Given the description of an element on the screen output the (x, y) to click on. 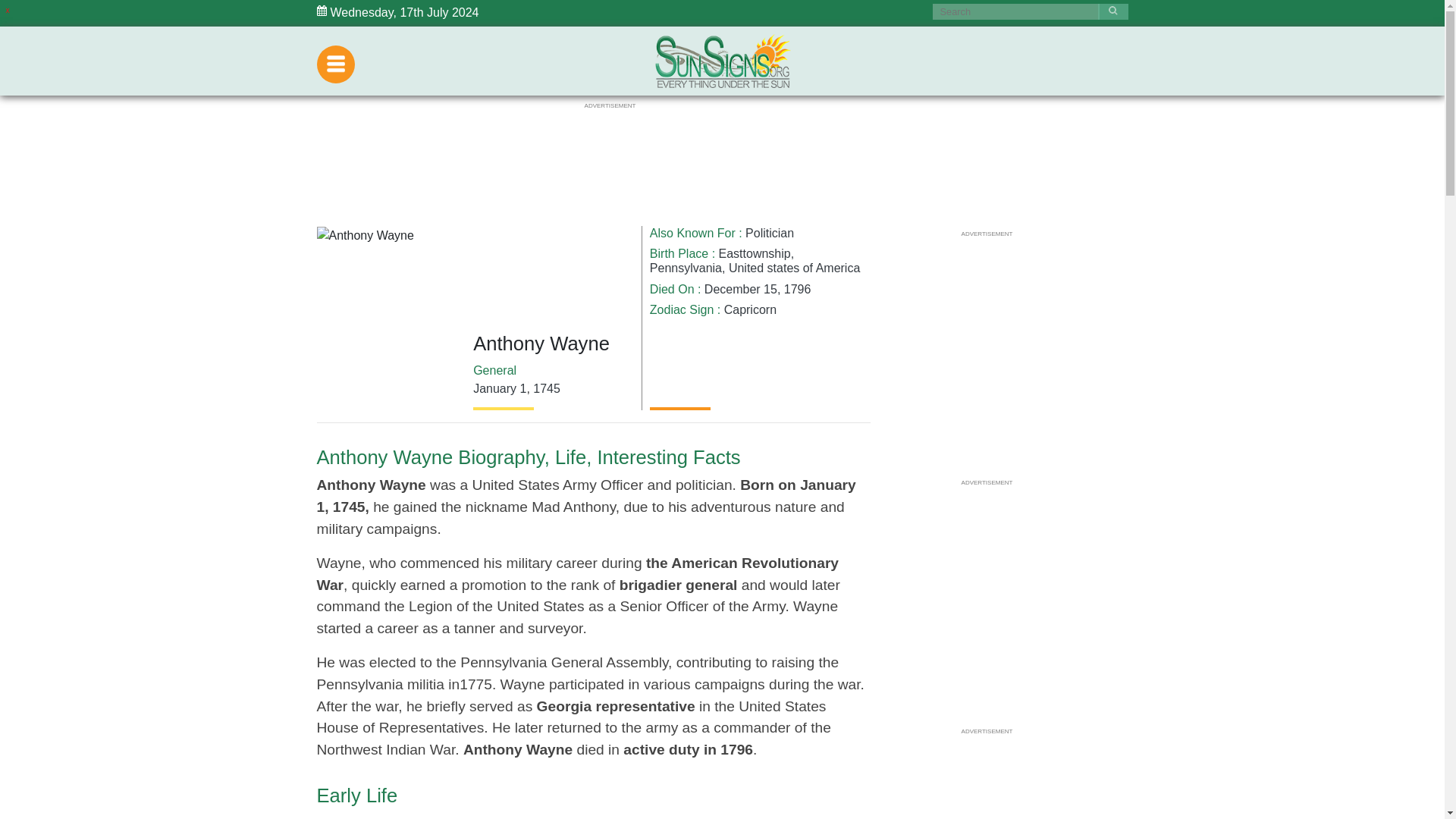
1796 (797, 288)
Zodiac Sign (681, 309)
United states of America (794, 267)
3rd party ad content (609, 144)
Capricorn (749, 309)
General (494, 369)
1745 (546, 388)
December 15 (740, 288)
January 1 (499, 388)
Pennsylvania (685, 267)
Politician (769, 232)
Easttownship (754, 253)
